Given the description of an element on the screen output the (x, y) to click on. 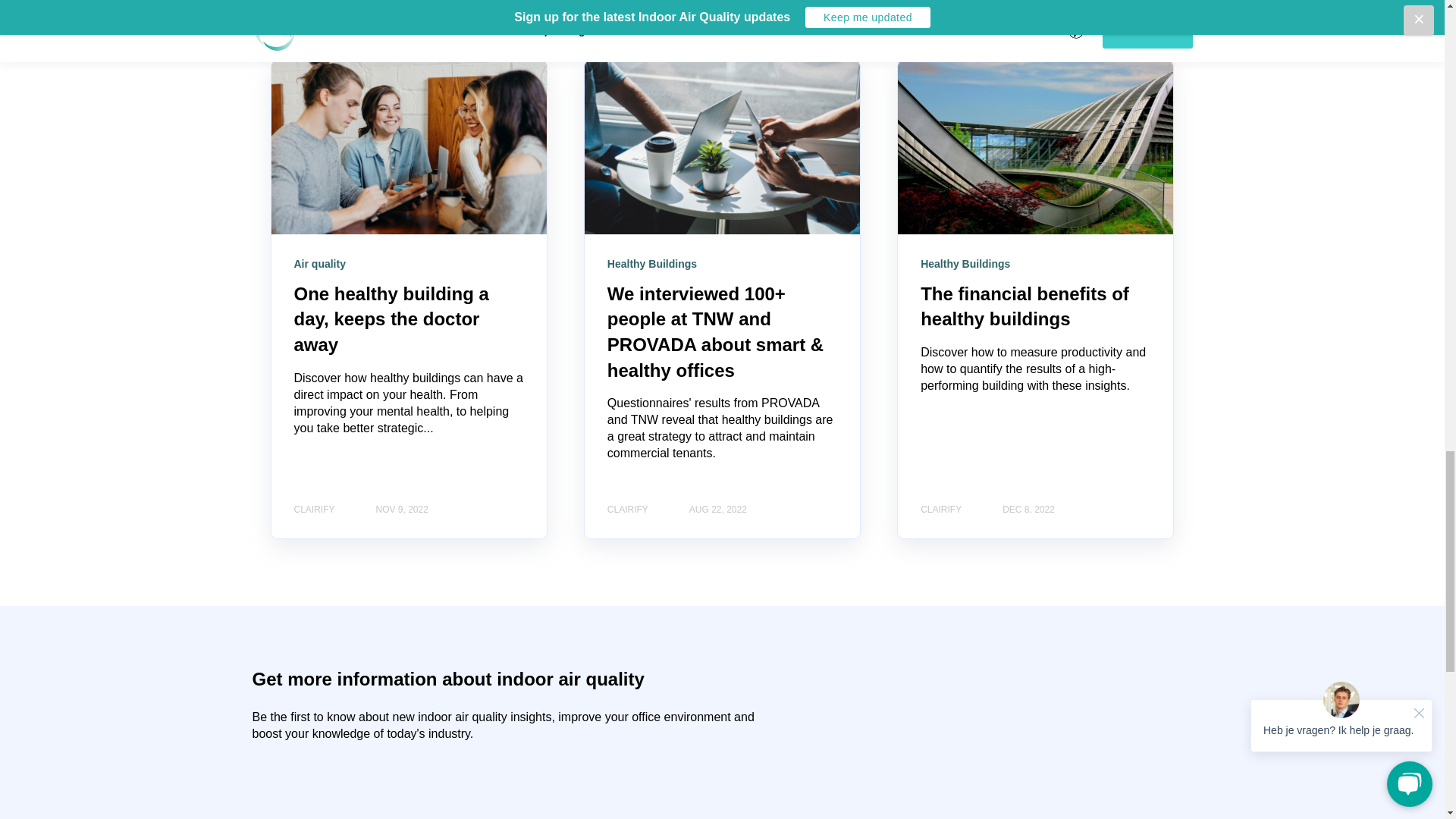
Form 0 (352, 789)
One healthy building a day, keeps the doctor away (391, 318)
The financial benefits of healthy buildings (1024, 306)
